Given the description of an element on the screen output the (x, y) to click on. 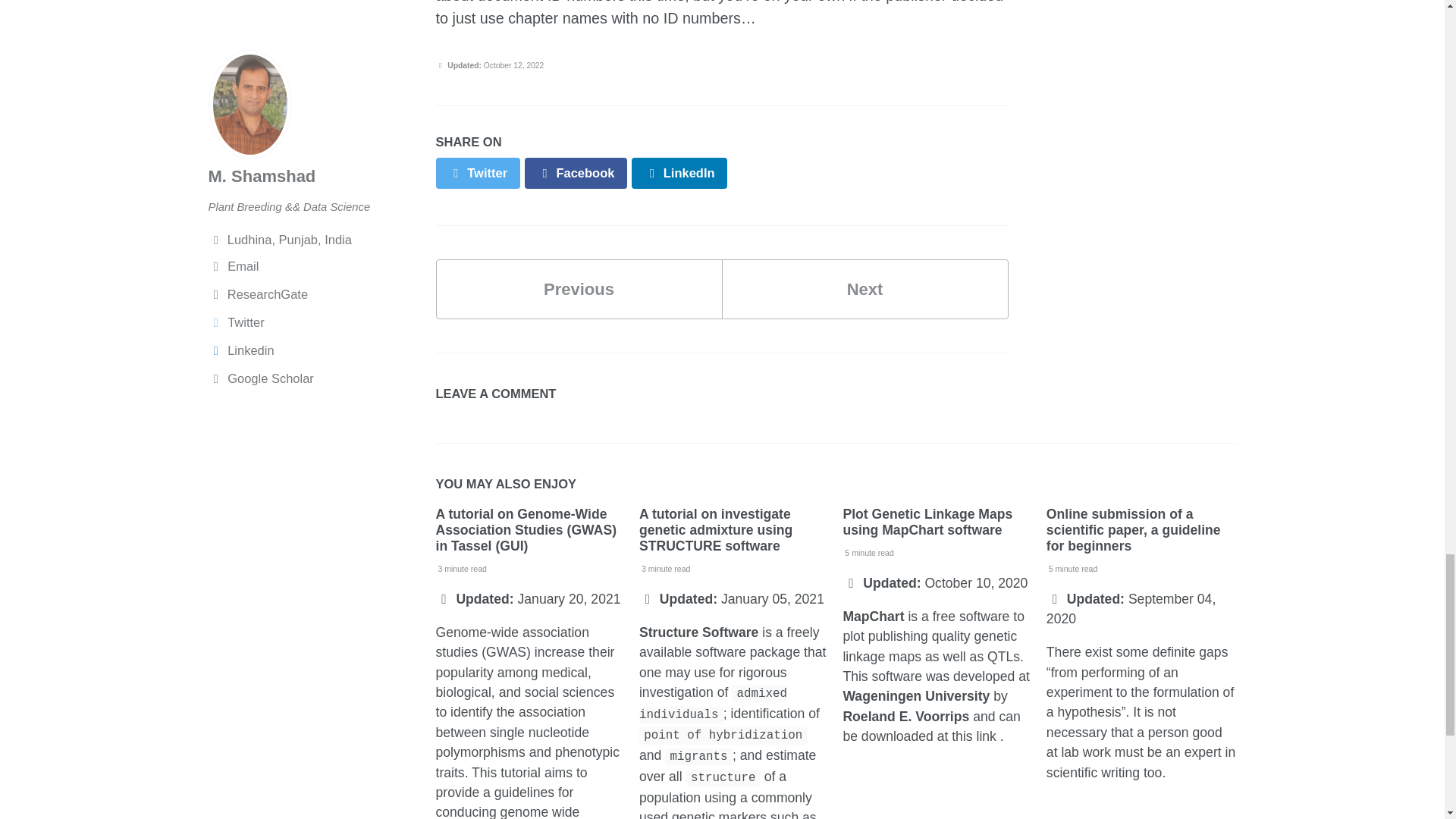
Share on LinkedIn (678, 173)
Combining PDF Documents  (578, 289)
Facebook (575, 173)
Share on Facebook (575, 173)
Next (865, 289)
Twitter (477, 173)
Previous (578, 289)
Share on Twitter (477, 173)
Building an Academic Website  (865, 289)
LinkedIn (678, 173)
